Given the description of an element on the screen output the (x, y) to click on. 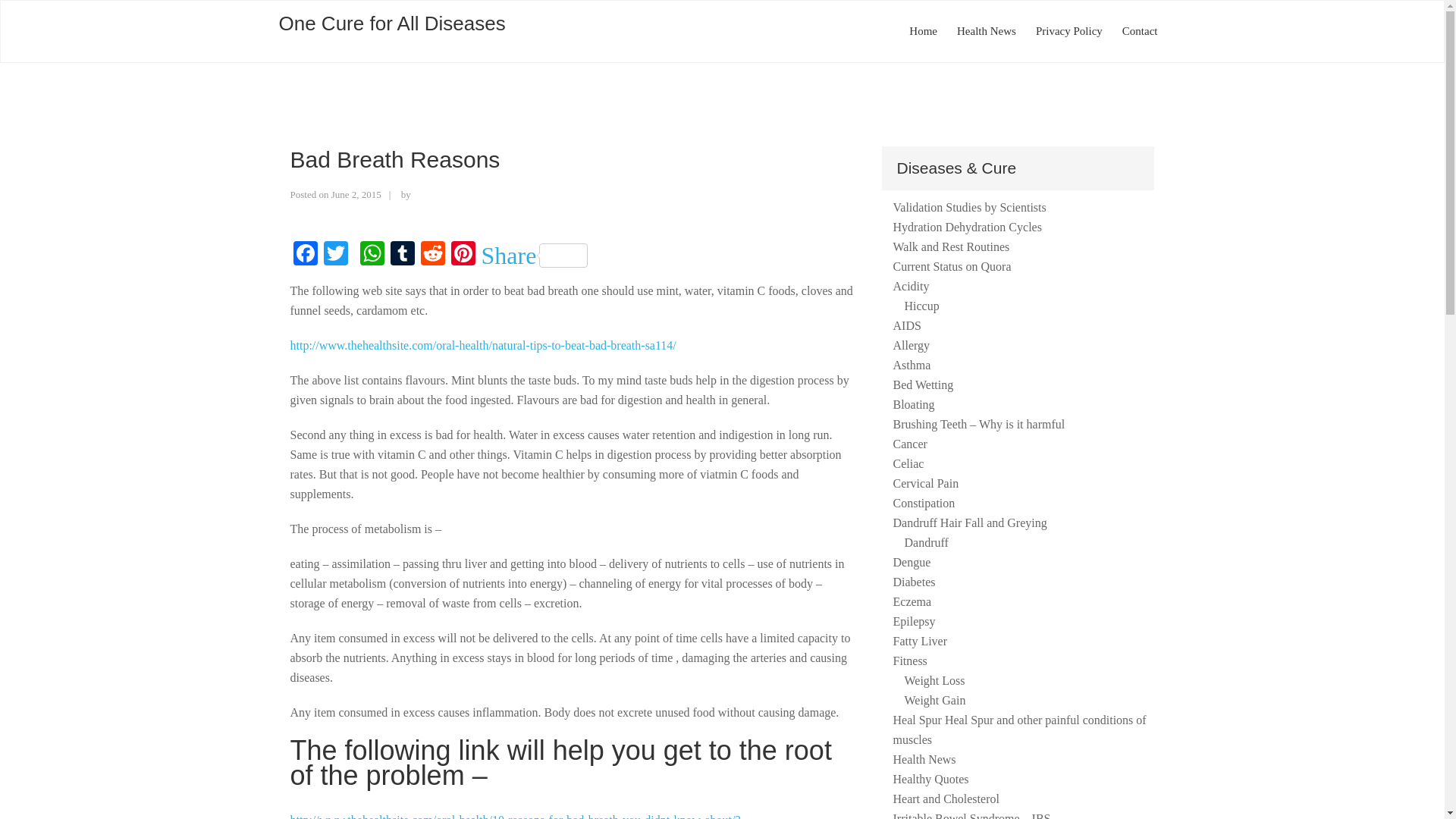
Walk and Rest Routines (951, 246)
Tumblr (401, 254)
WhatsApp (371, 254)
Facebook (304, 254)
Tumblr (401, 254)
Privacy Policy (1068, 31)
Hiccup (921, 305)
Validation Studies by Scientists (969, 206)
Asthma (912, 364)
June 2, 2015 (356, 194)
Reddit (431, 254)
Health News (987, 31)
Pinterest (461, 254)
Twitter (335, 254)
Facebook (304, 254)
